Given the description of an element on the screen output the (x, y) to click on. 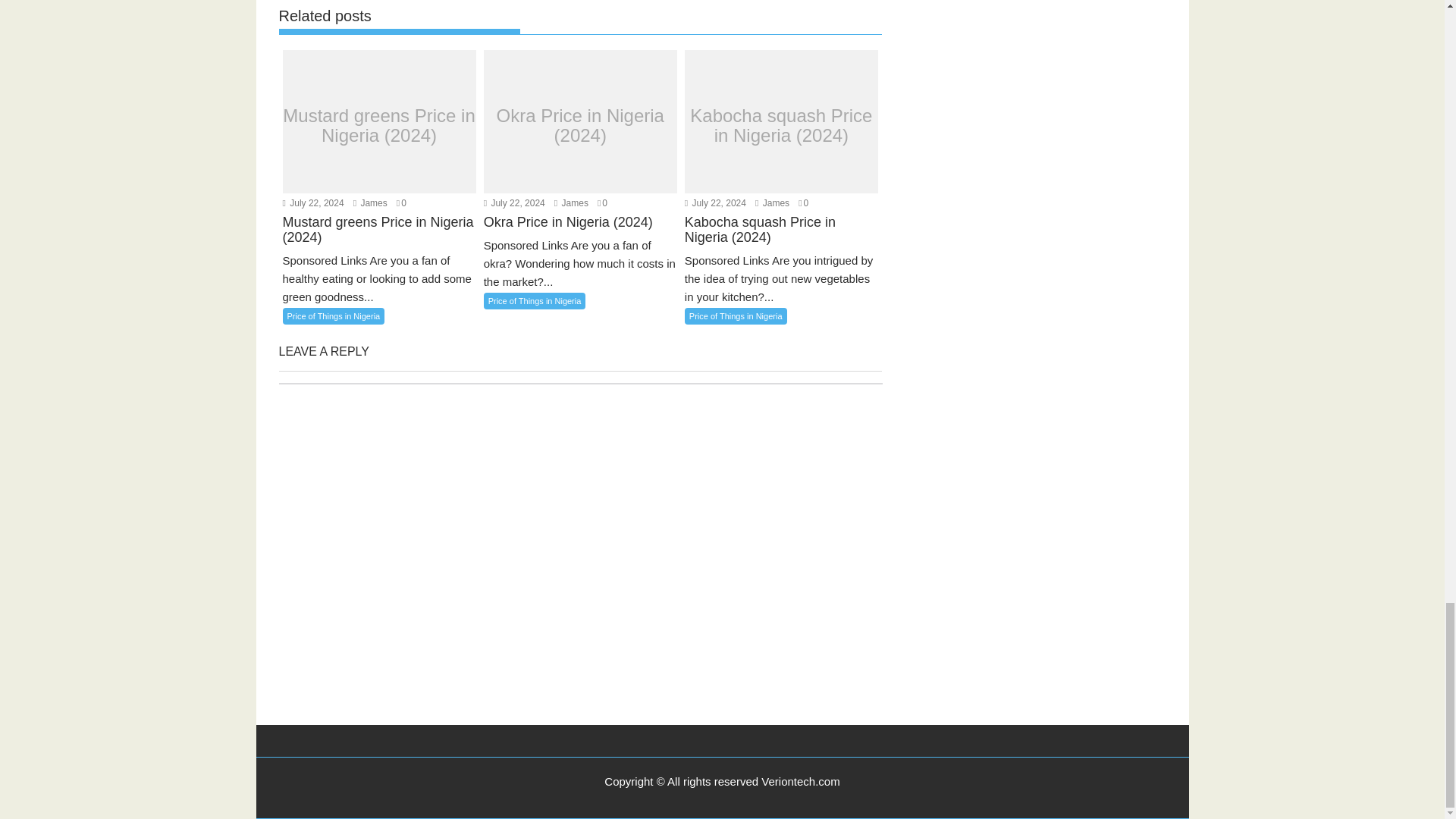
0 (401, 203)
July 22, 2024 (312, 203)
James (370, 203)
